Given the description of an element on the screen output the (x, y) to click on. 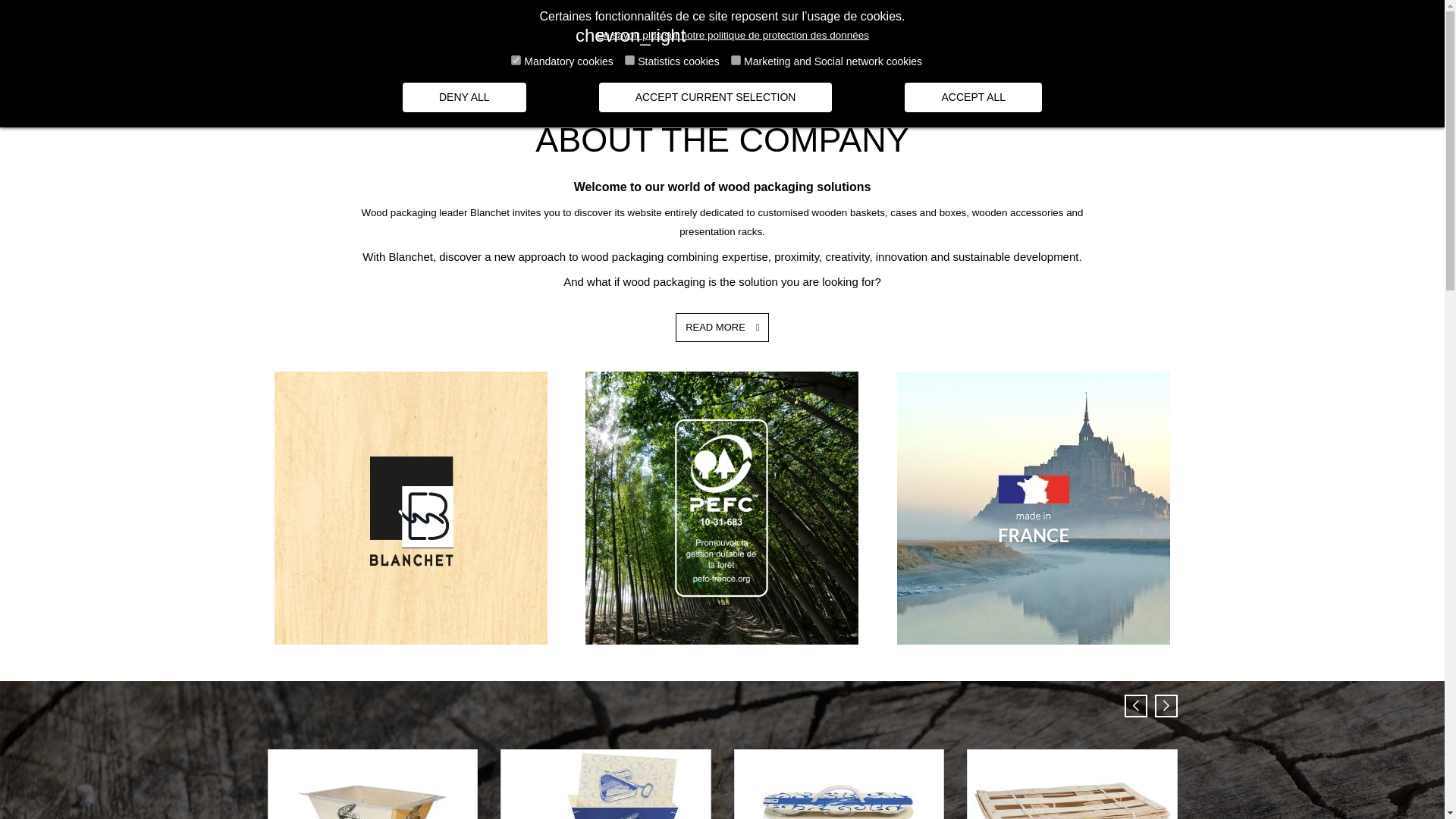
The compagny (565, 73)
Our Collections (962, 73)
on (629, 60)
GB (834, 24)
Blanchet Packaging Solutions (709, 73)
Our Collections (962, 73)
The compagny (565, 73)
Our services (851, 73)
on (516, 60)
Blanchet Packaging Solutions (709, 73)
on (735, 60)
Our services (851, 73)
